Given the description of an element on the screen output the (x, y) to click on. 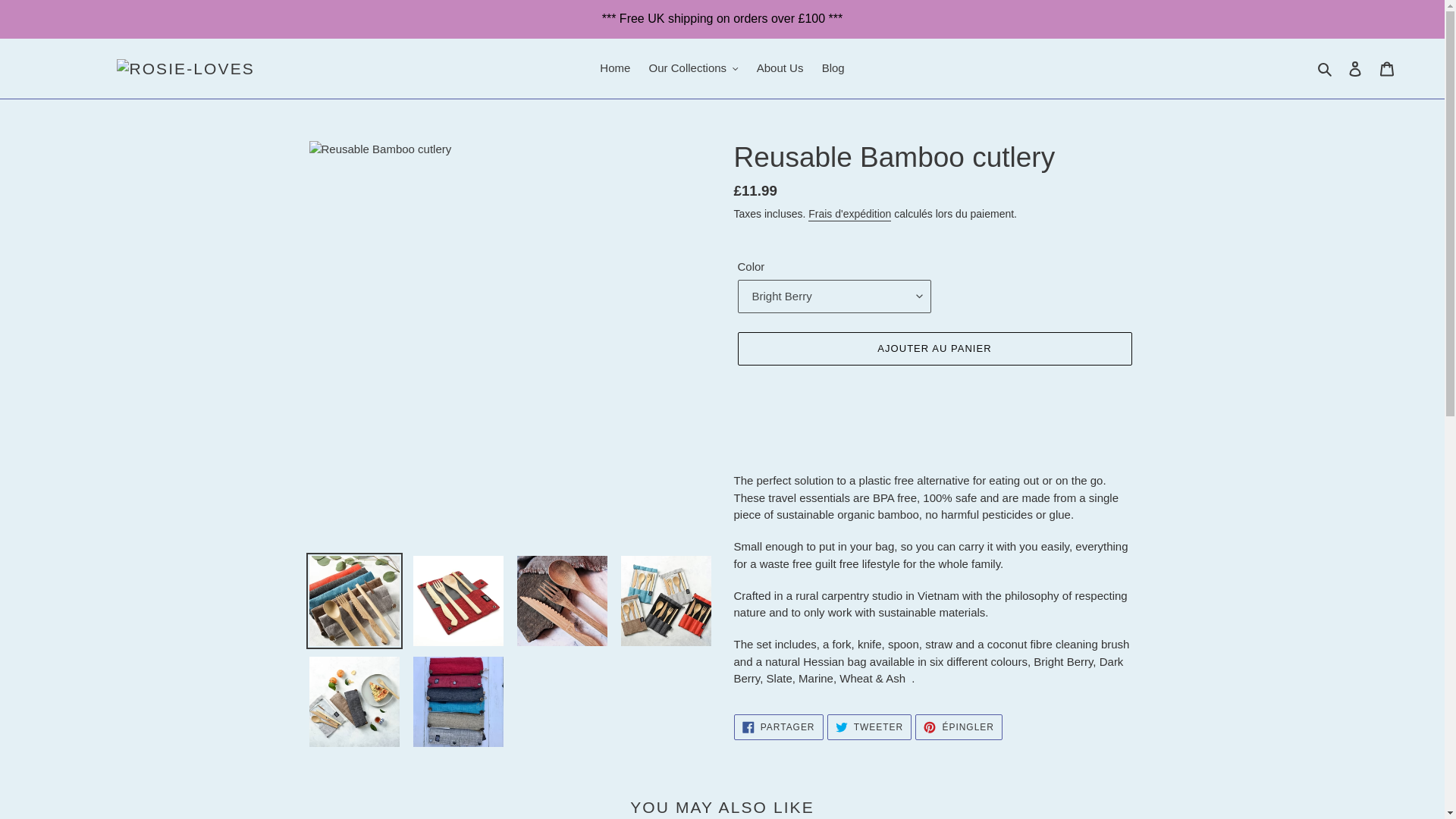
Home (614, 68)
Our Collections (693, 68)
